Given the description of an element on the screen output the (x, y) to click on. 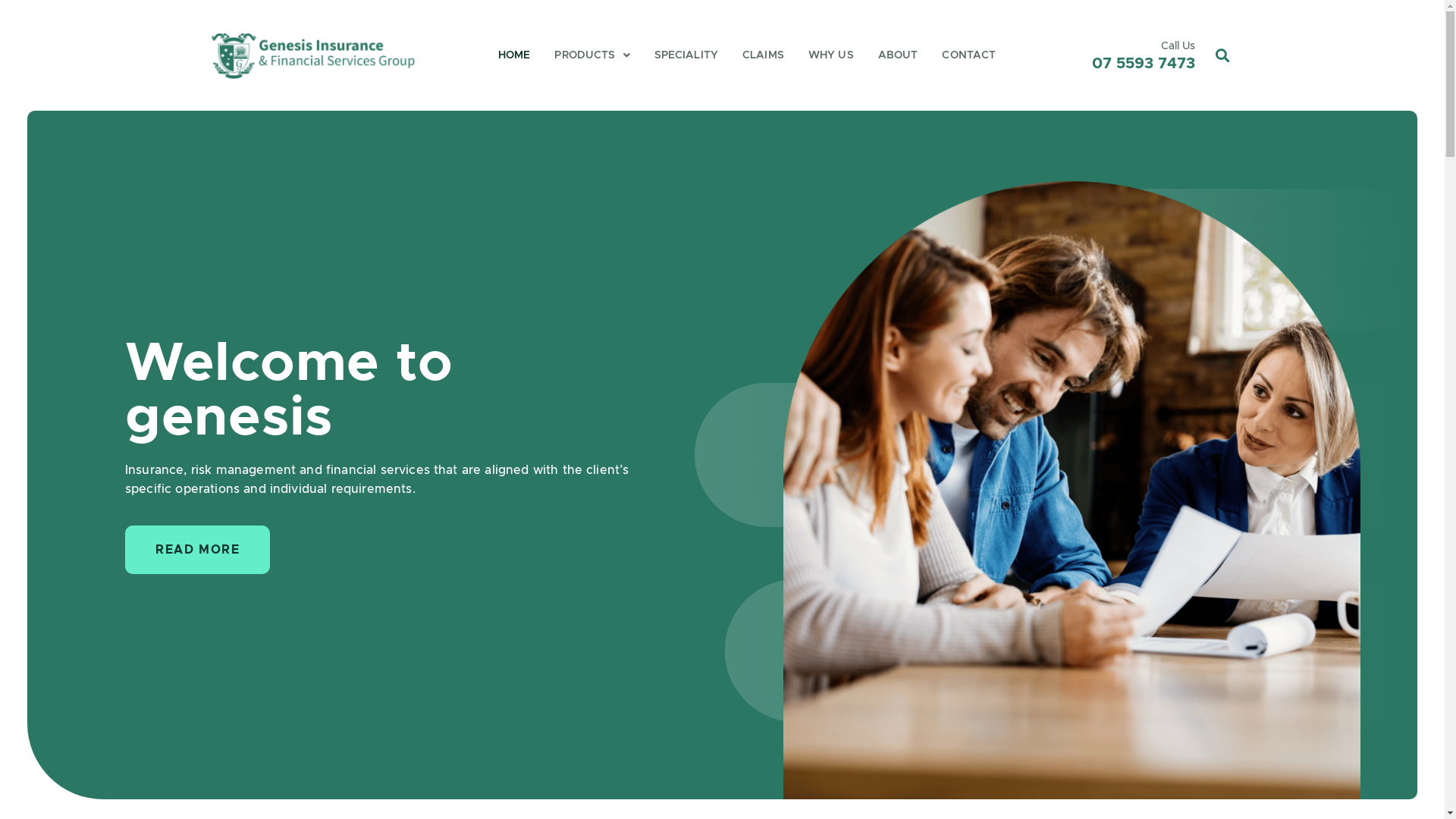
HOME Element type: text (514, 55)
Home 1 Element type: hover (1071, 490)
07 5593 7473 Element type: text (1143, 63)
PRODUCTS Element type: text (591, 55)
READ MORE Element type: text (197, 549)
SPECIALITY Element type: text (686, 55)
CONTACT Element type: text (968, 55)
CLAIMS Element type: text (763, 55)
WHY US Element type: text (831, 55)
ABOUT Element type: text (898, 55)
